Given the description of an element on the screen output the (x, y) to click on. 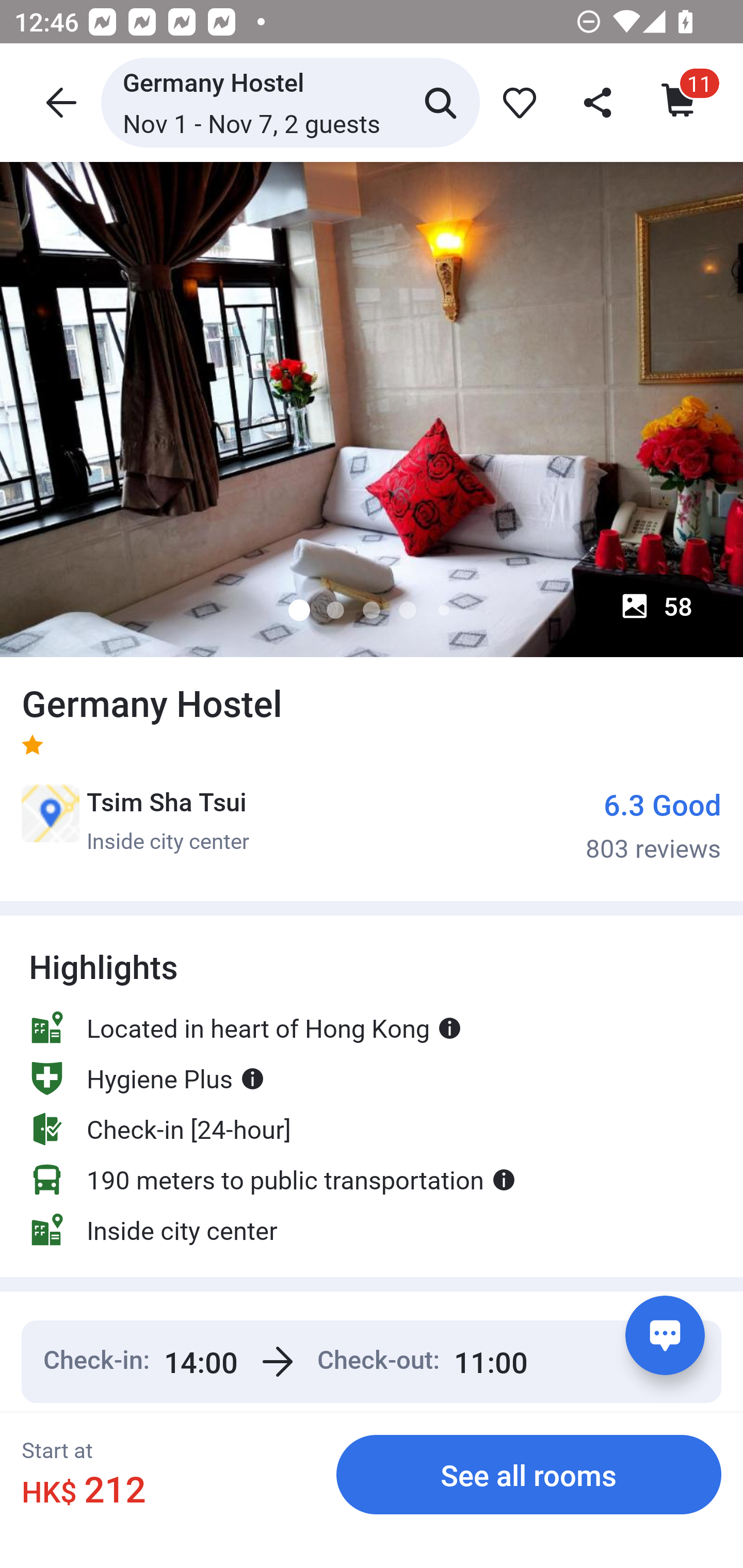
header icon (59, 102)
favorite_icon 0dbe6efb (515, 102)
share_header_icon (598, 102)
Cart icon cart_item_count 11 (679, 102)
image (371, 408)
58 (656, 605)
Tsim Sha Tsui Inside city center (134, 819)
6.3 Good 803 reviews (653, 824)
Located in heart of Hong Kong (245, 1027)
Hygiene Plus (146, 1077)
190 meters to public transportation (272, 1179)
See all rooms (528, 1474)
